Given the description of an element on the screen output the (x, y) to click on. 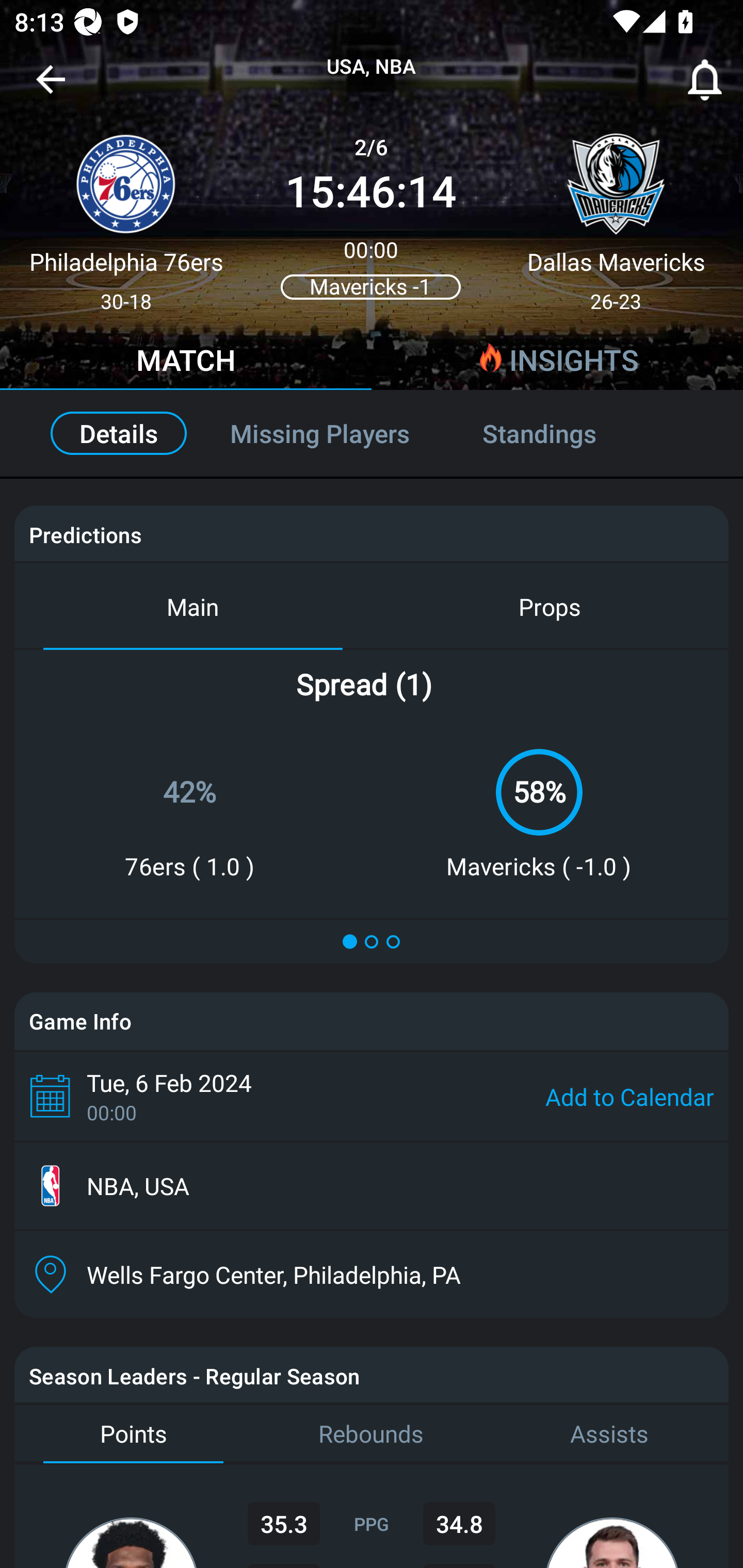
Navigate up (50, 86)
USA, NBA (371, 66)
Philadelphia 76ers 30-18 (126, 214)
Dallas Mavericks 26-23 (616, 214)
MATCH (185, 362)
INSIGHTS (557, 362)
Missing Players (319, 433)
Standings (561, 433)
Predictions (85, 534)
Props (549, 605)
Game Info (371, 1021)
Tue, 6 Feb 2024 00:00 Add to Calendar (371, 1095)
NBA, USA (371, 1186)
Wells Fargo Center, Philadelphia, PA (371, 1273)
Rebounds (371, 1433)
Assists (609, 1433)
